Given the description of an element on the screen output the (x, y) to click on. 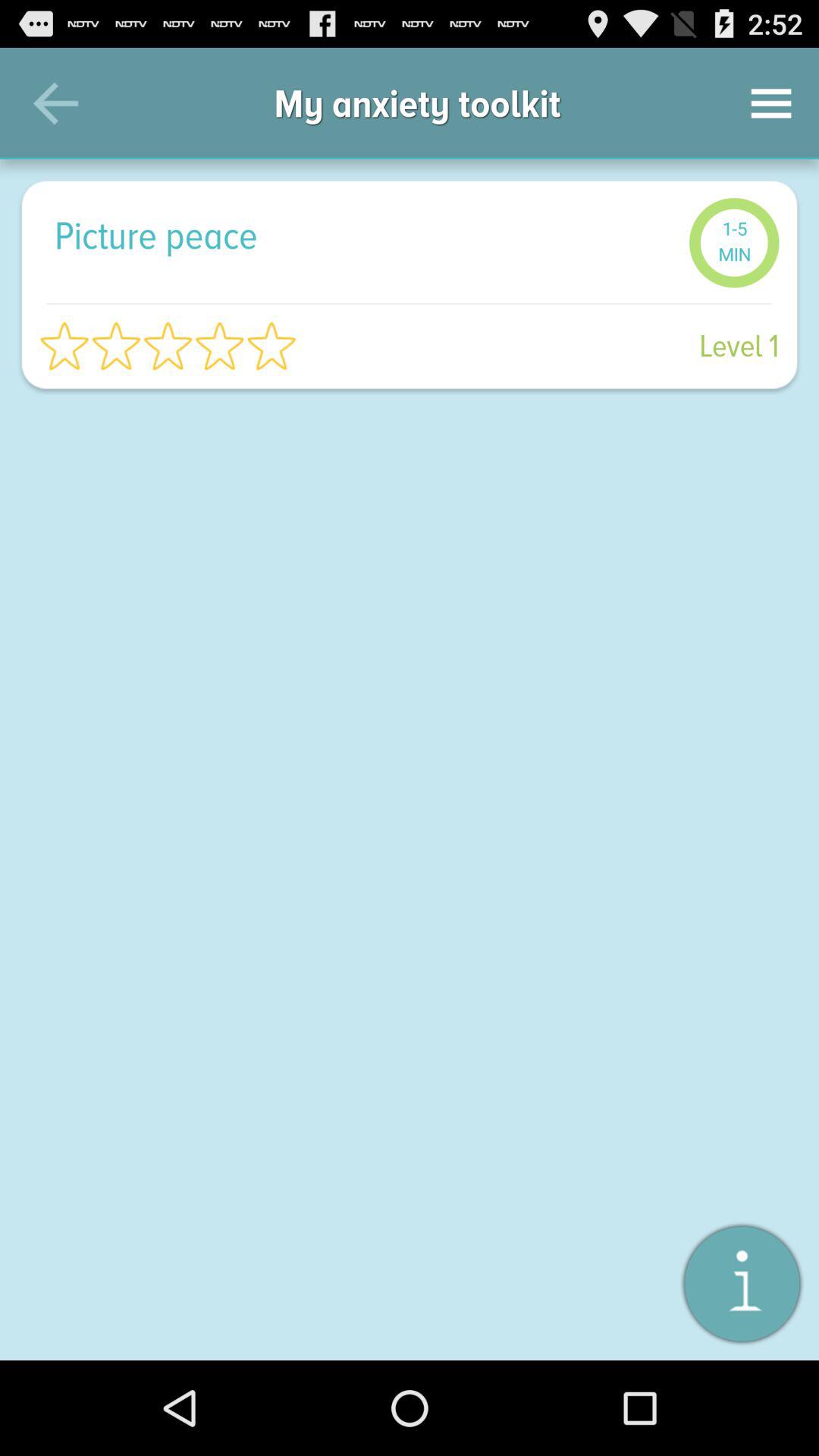
click the item next to my anxiety toolkit item (771, 103)
